Given the description of an element on the screen output the (x, y) to click on. 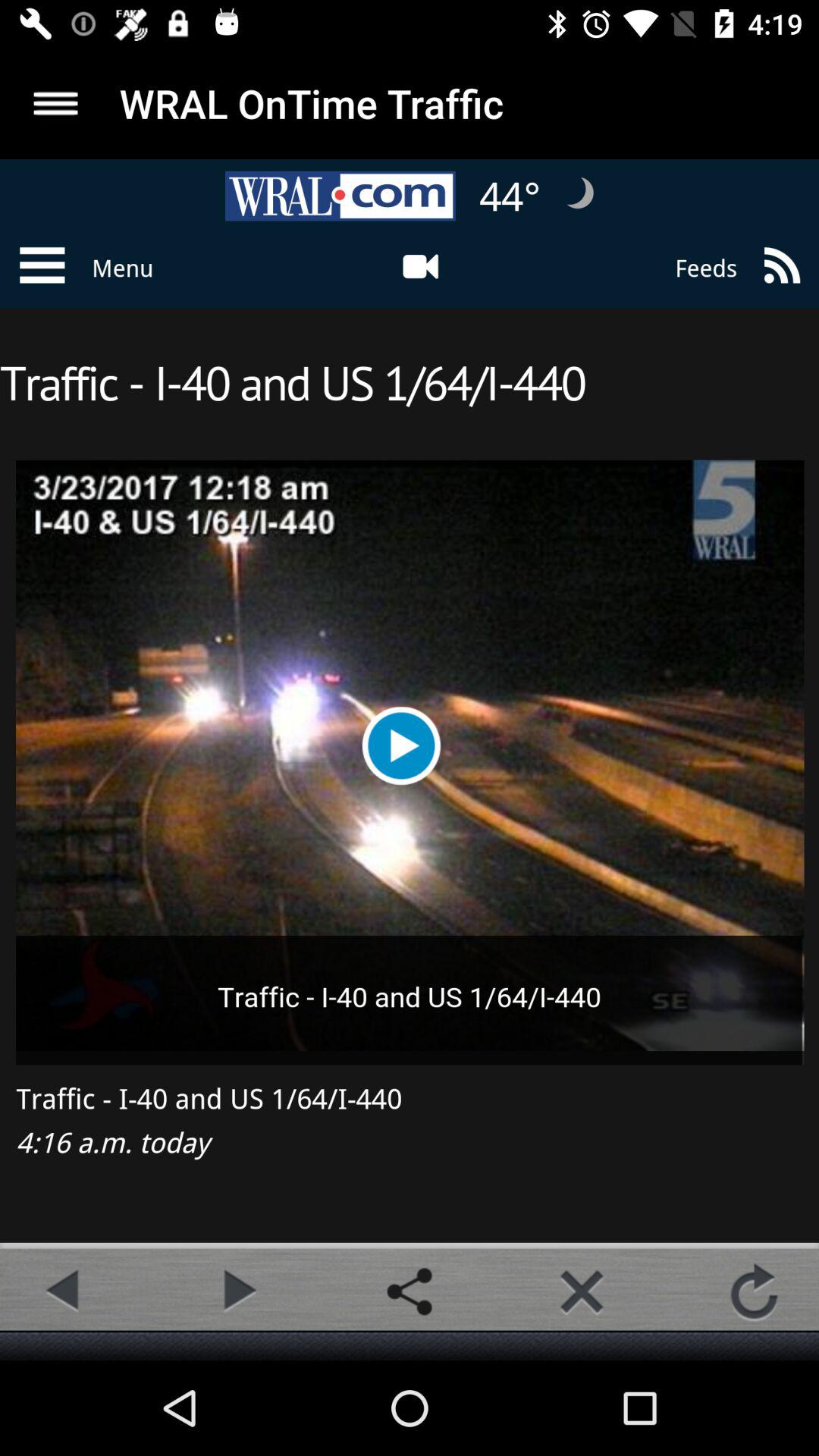
refresh (754, 1291)
